Given the description of an element on the screen output the (x, y) to click on. 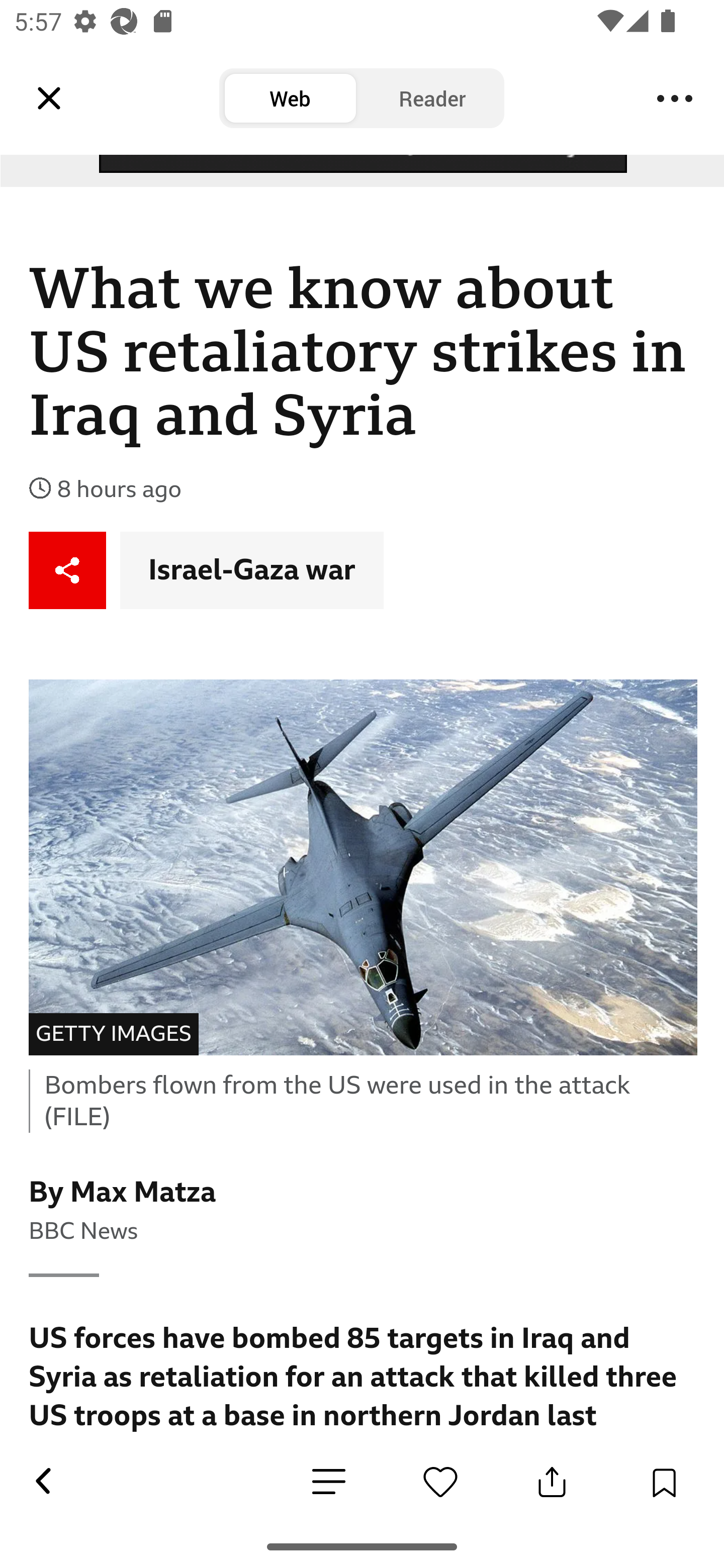
Latin America (118, 21)
Middle East (312, 21)
US & Canada (499, 21)
Reader (432, 98)
Menu (674, 98)
Leading Icon (49, 98)
Share (67, 569)
Israel-Gaza war (252, 569)
Back Button (42, 1481)
News Detail Emotion (440, 1481)
Share Button (551, 1481)
Save Button (663, 1481)
News Detail Emotion (329, 1482)
